Given the description of an element on the screen output the (x, y) to click on. 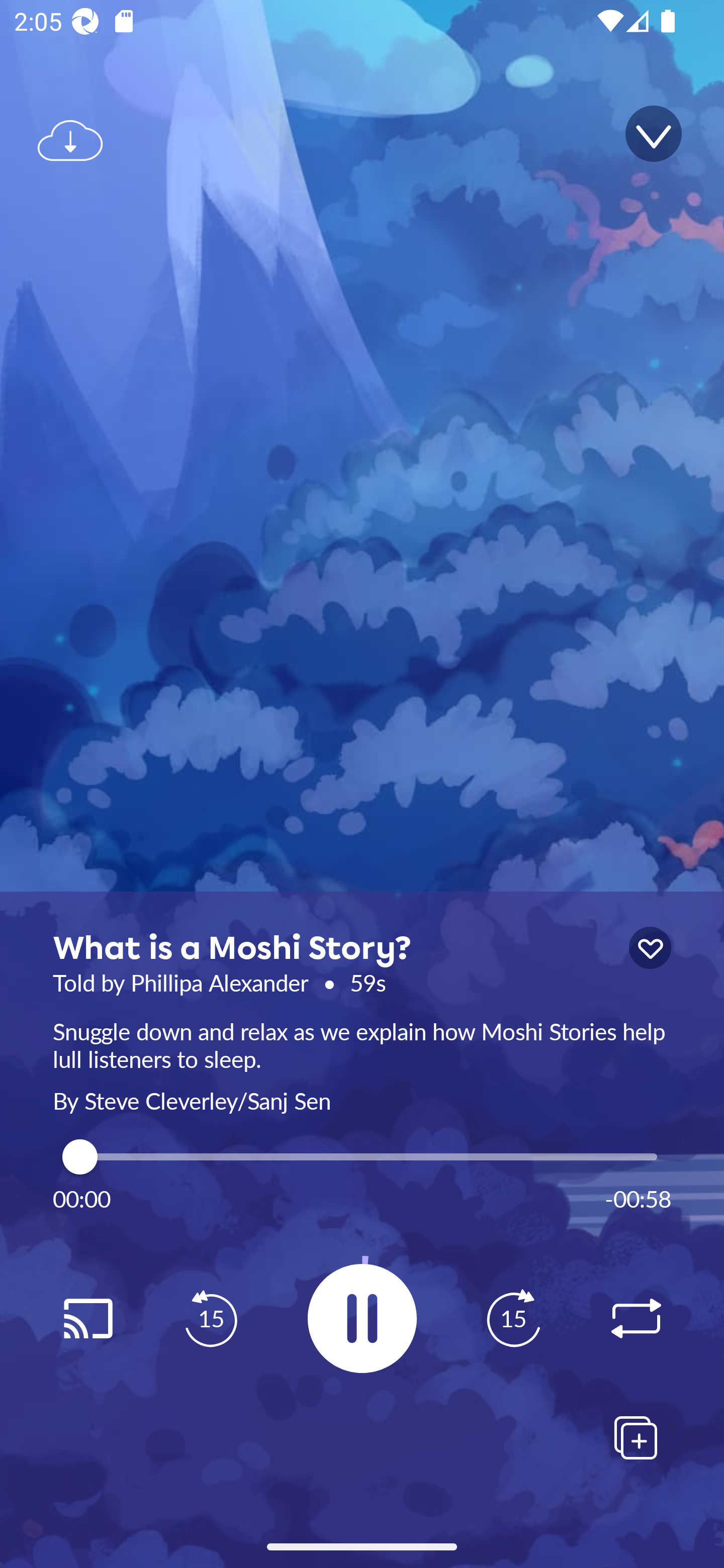
lock icon (650, 947)
0.016 Pause (361, 1317)
Replay (87, 1318)
Replay 15 (210, 1318)
Replay 15 (513, 1318)
Replay (635, 1318)
Add To Playlists (635, 1437)
